Given the description of an element on the screen output the (x, y) to click on. 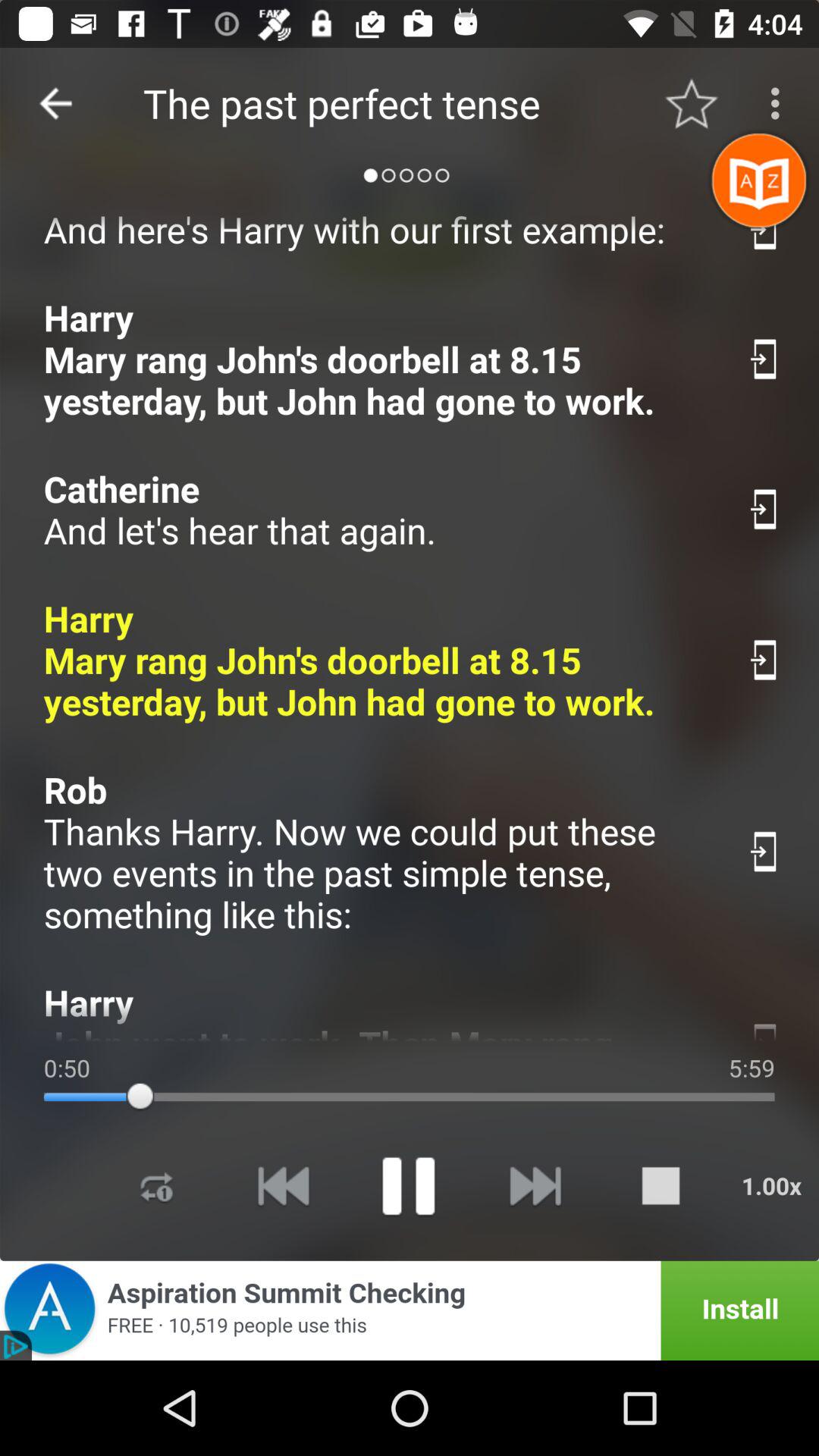
una buena manera de leer (765, 229)
